Given the description of an element on the screen output the (x, y) to click on. 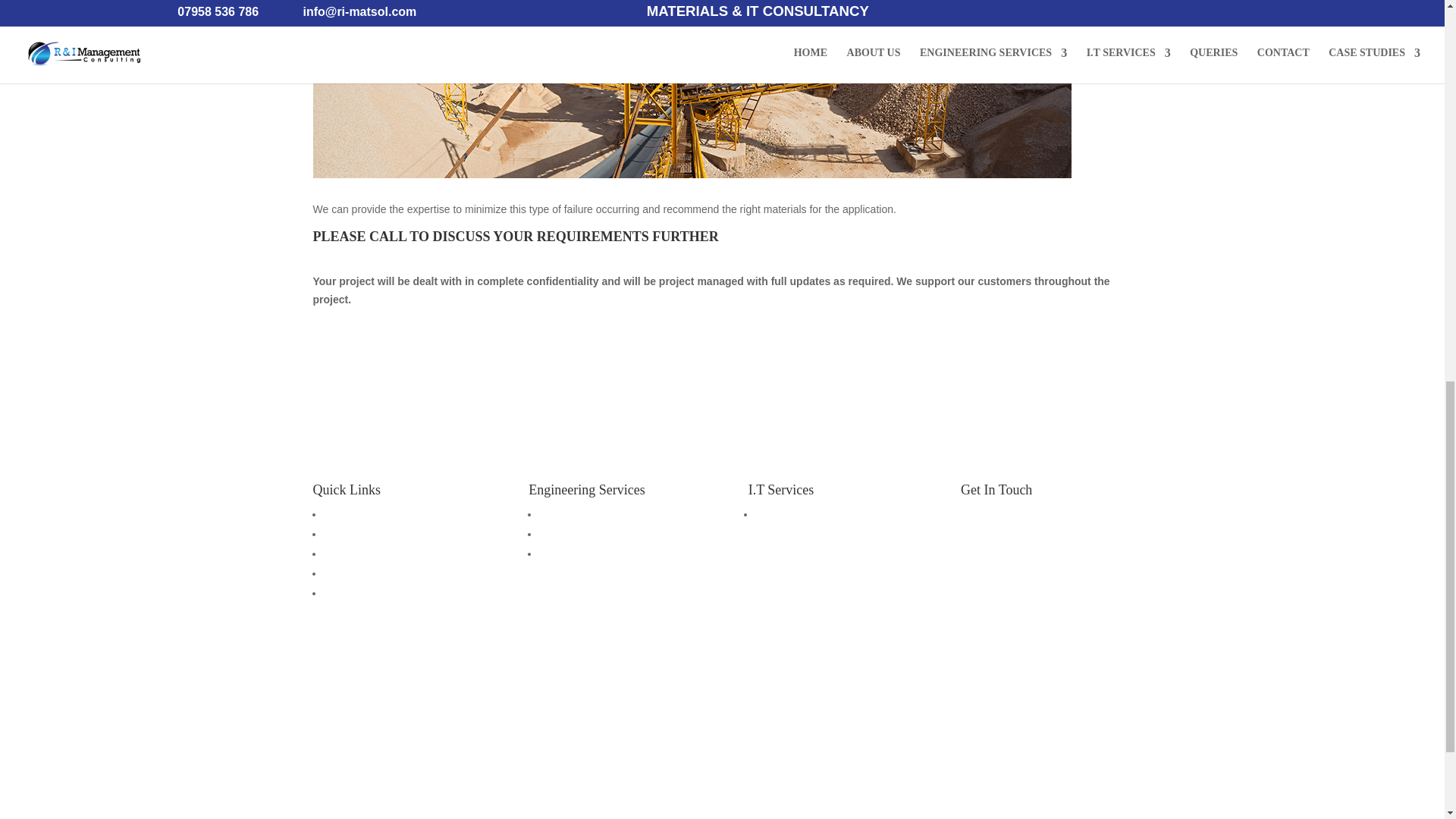
About Our I.T Services (808, 513)
About Us (344, 533)
Queries (341, 573)
Products (559, 553)
Industries We Cover (586, 533)
About Our Engineering Services (614, 513)
Contact (341, 592)
Home (336, 513)
